Given the description of an element on the screen output the (x, y) to click on. 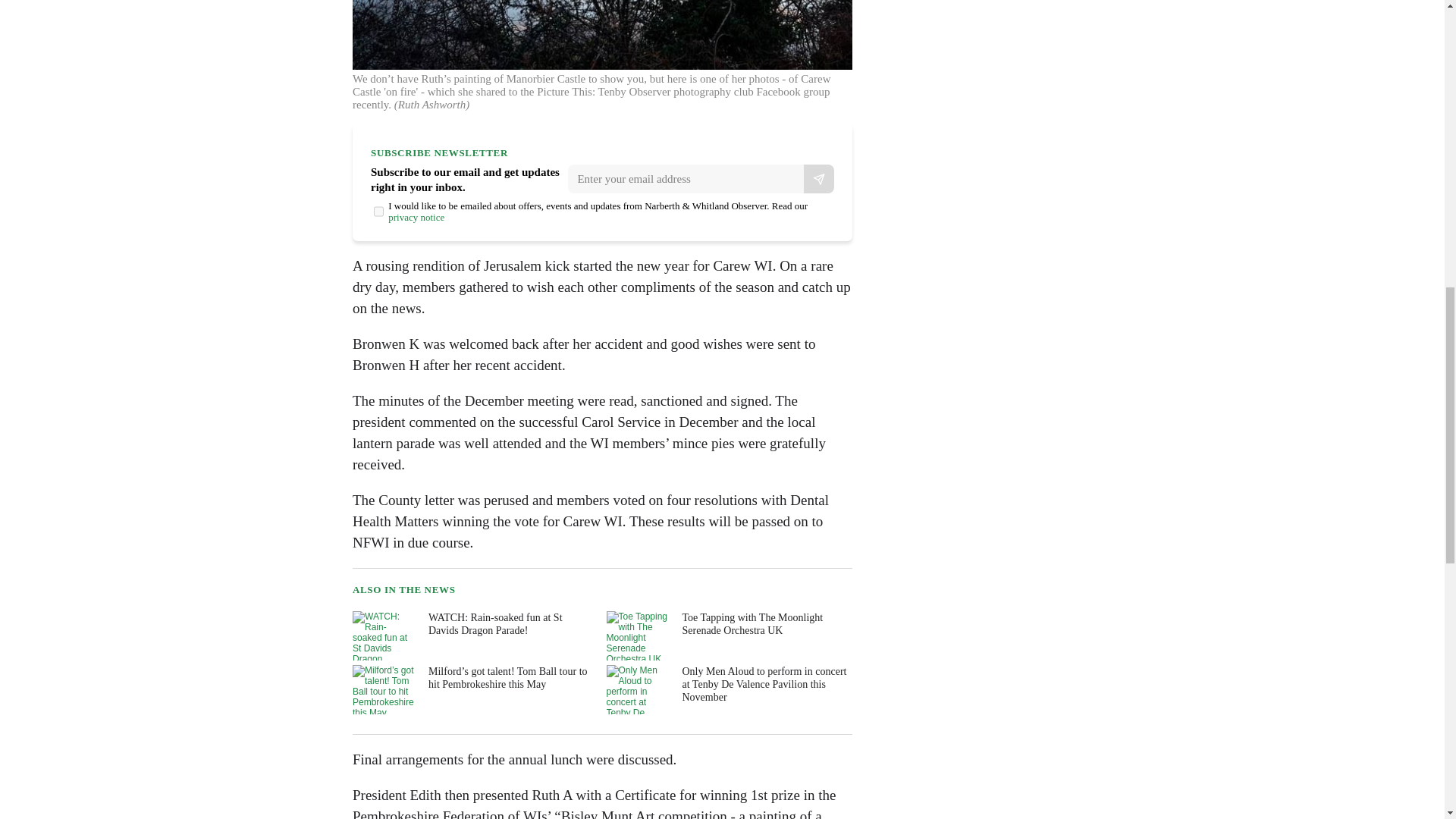
privacy notice (416, 216)
WATCH: Rain-soaked fun at St Davids Dragon Parade! (473, 635)
Toe Tapping with The Moonlight Serenade Orchestra UK (727, 635)
